Given the description of an element on the screen output the (x, y) to click on. 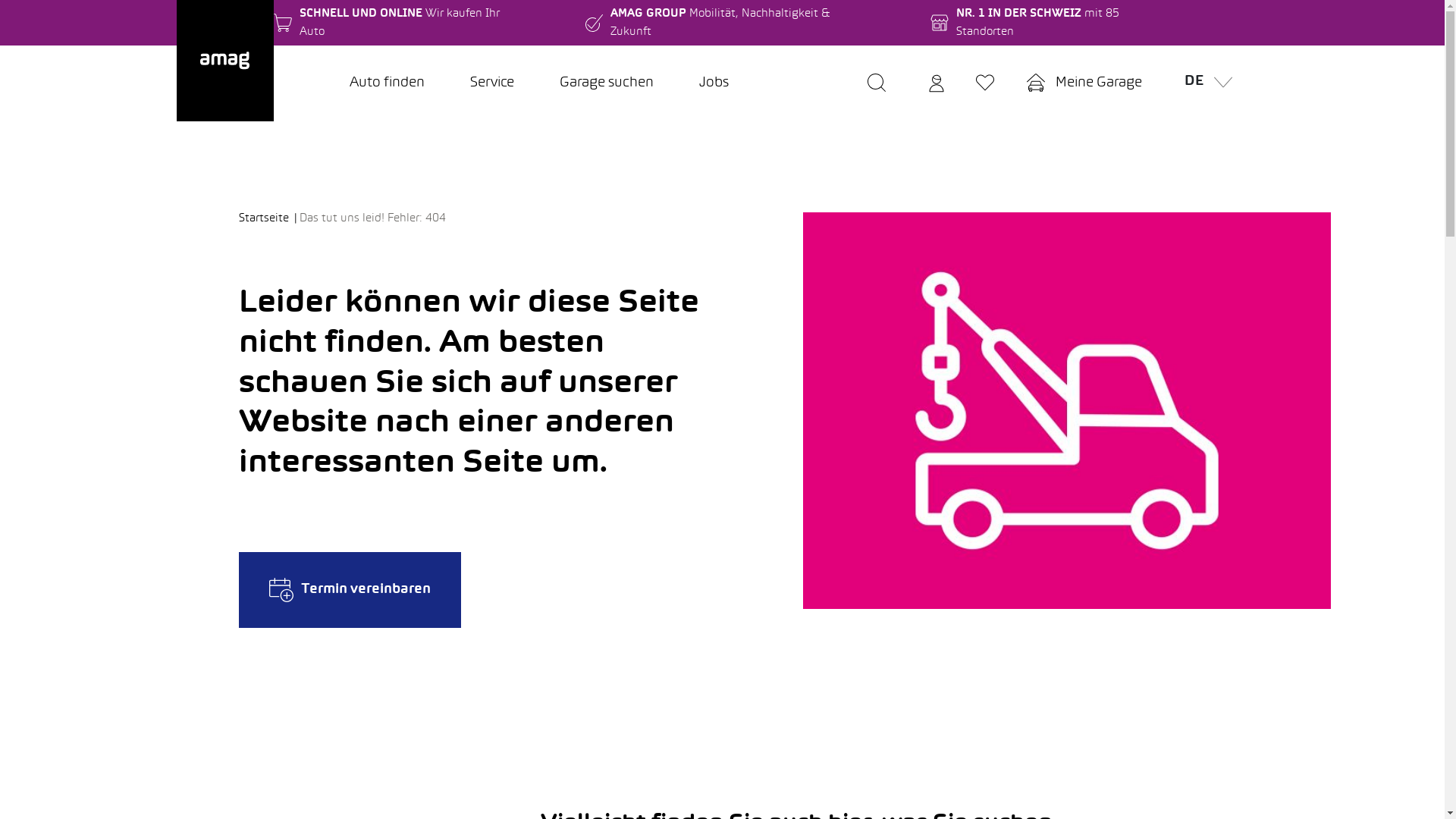
Service Element type: text (491, 83)
Auto finden Element type: text (386, 83)
Startseite Element type: text (268, 218)
NR. 1 IN DER SCHWEIZ mit 85 Standorten Element type: text (1053, 22)
Meine Garage Element type: text (1083, 83)
Garage suchen Element type: text (606, 83)
DE Element type: text (1203, 83)
Jobs Element type: text (713, 83)
SCHNELL UND ONLINE Wir kaufen Ihr Auto Element type: text (398, 22)
Termin vereinbaren Element type: text (349, 589)
